Given the description of an element on the screen output the (x, y) to click on. 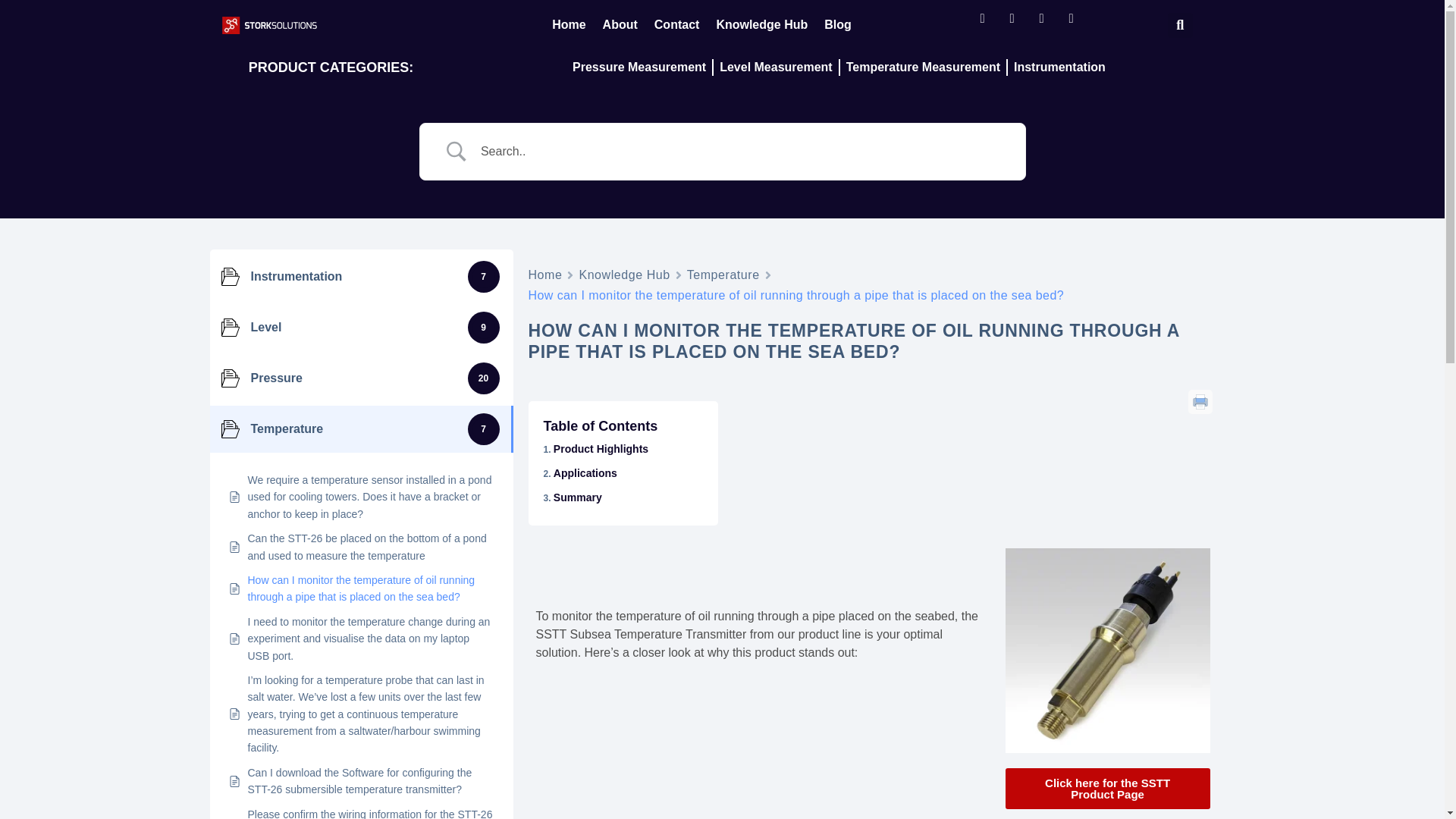
Home (544, 274)
Pressure Measurement (638, 66)
Knowledge Hub (623, 274)
Instrumentation (1059, 66)
Temperature (723, 274)
Temperature Measurement (923, 66)
Contact (676, 24)
Blog (837, 24)
About (620, 24)
Knowledge Hub (761, 24)
Home (568, 24)
Level Measurement (775, 66)
